Given the description of an element on the screen output the (x, y) to click on. 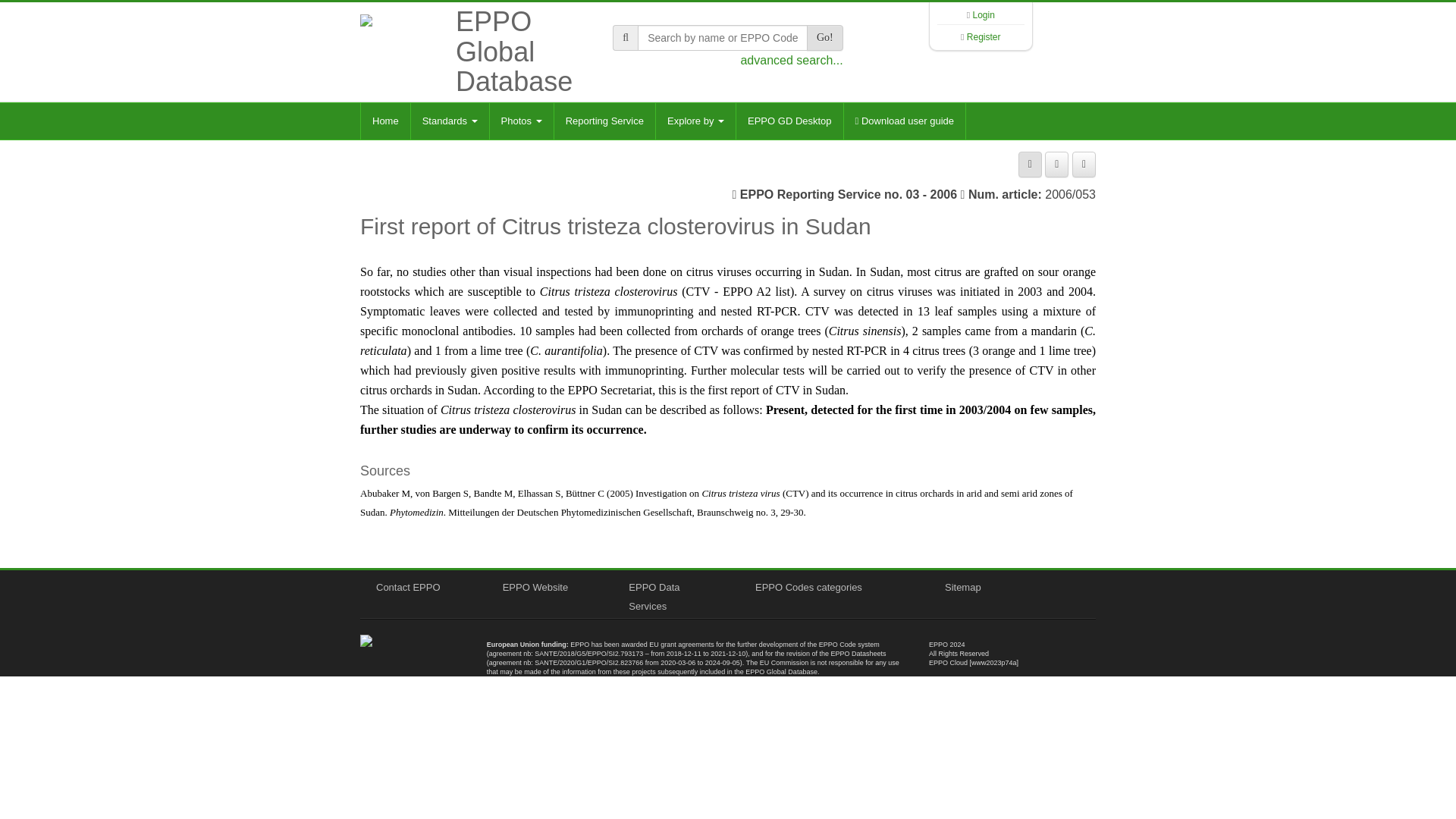
Home (384, 121)
Login (983, 14)
EPPO GD Desktop (789, 121)
Share on twitter (1083, 164)
Photos (521, 121)
Standards (449, 121)
Register (983, 36)
Share on facebook (1056, 164)
advanced search... (791, 60)
Go! (824, 37)
Print (1029, 164)
Explore by (695, 121)
Reporting Service (604, 121)
